Given the description of an element on the screen output the (x, y) to click on. 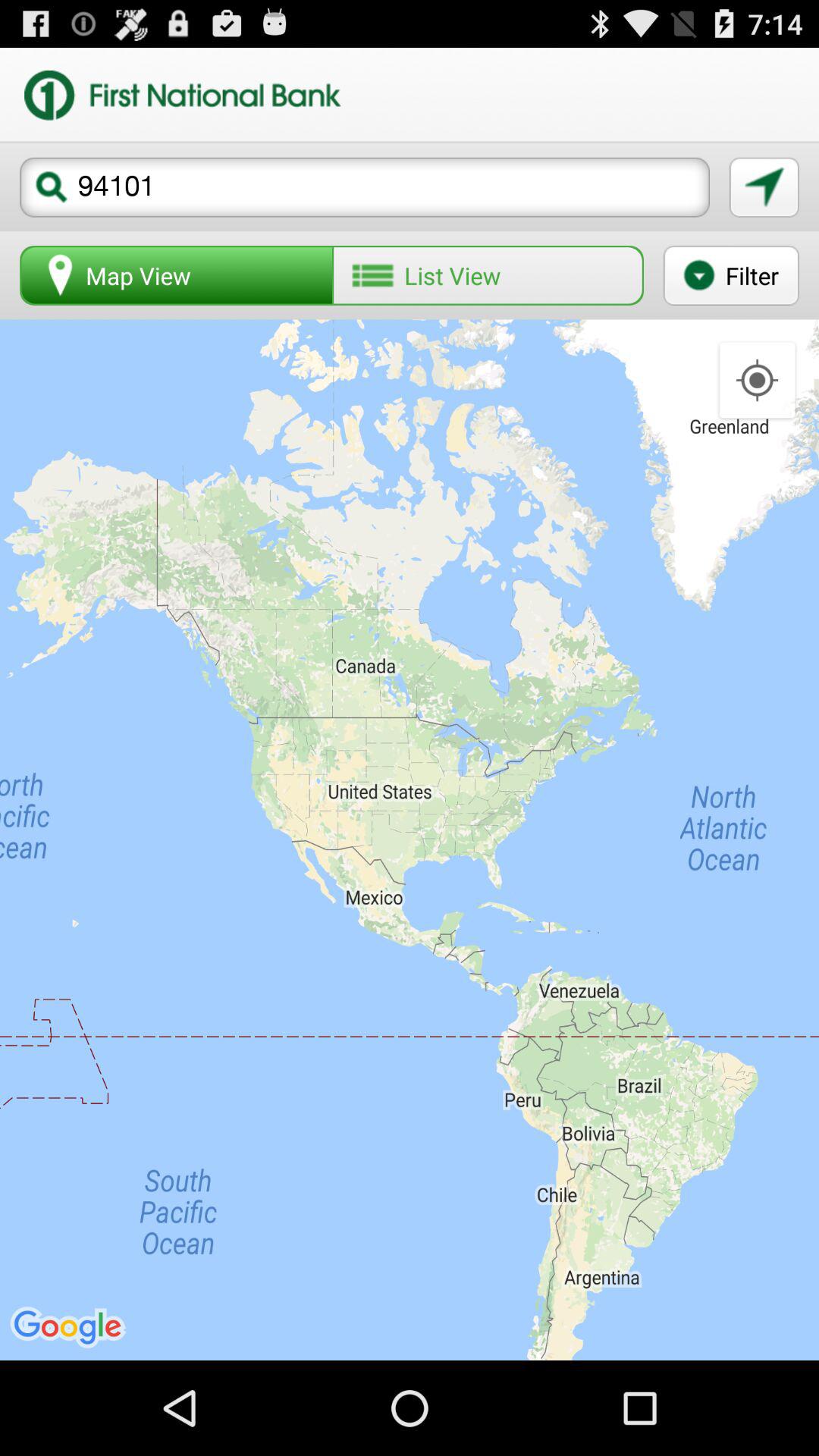
open the icon to the left of the list view button (176, 275)
